Given the description of an element on the screen output the (x, y) to click on. 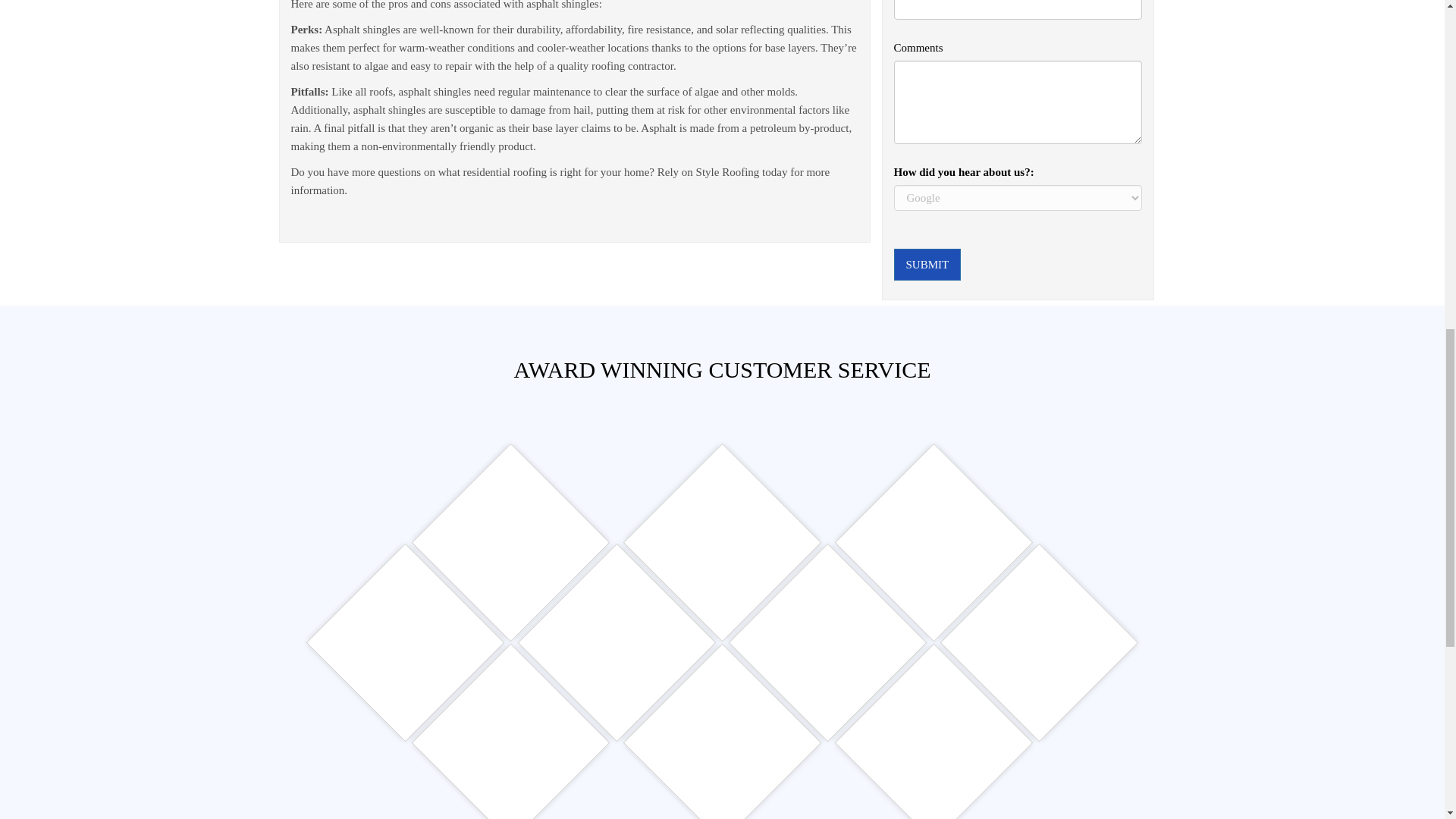
Submit (926, 264)
